Given the description of an element on the screen output the (x, y) to click on. 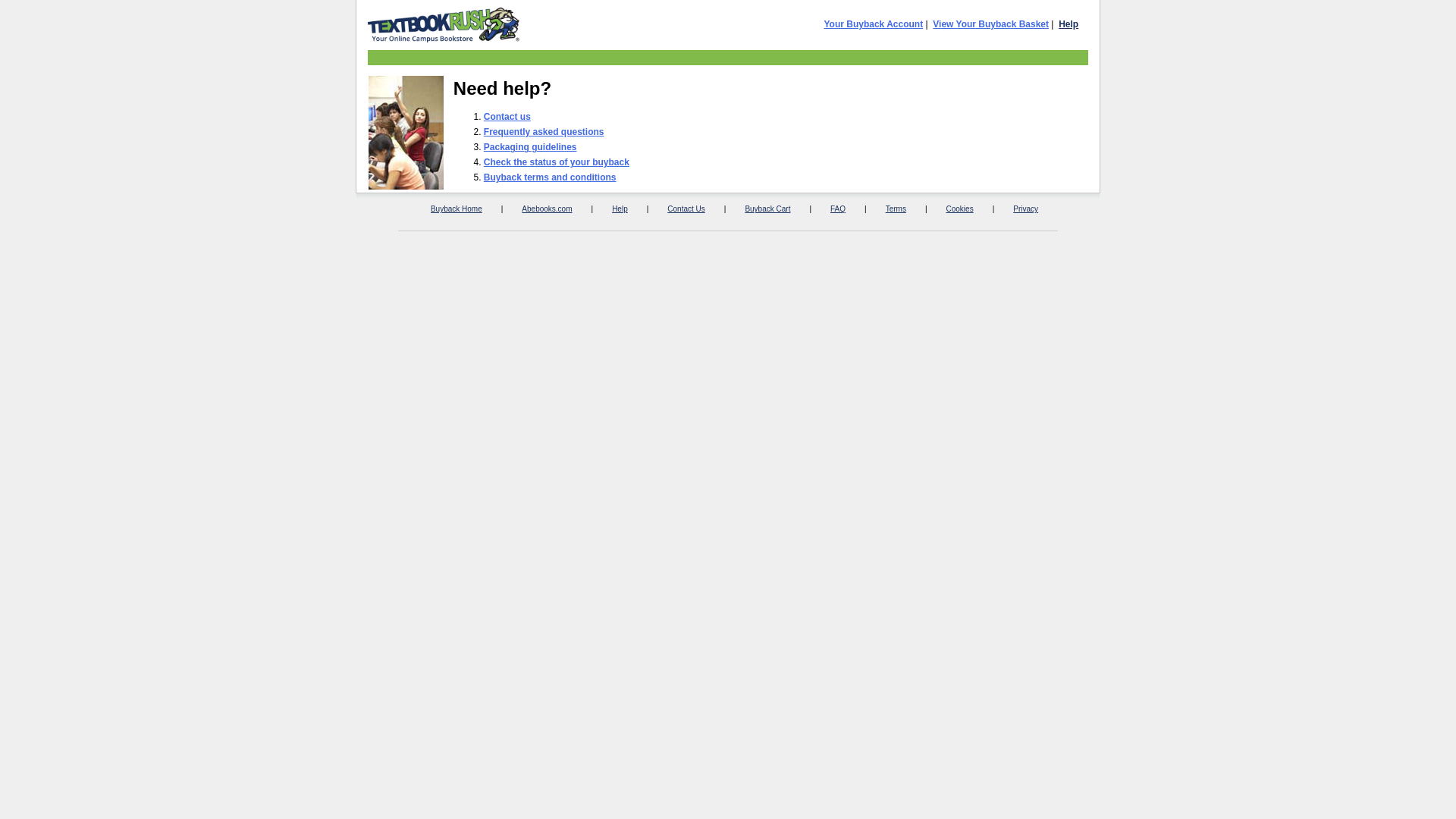
Contact us Element type: text (506, 116)
Buyback terms and conditions Element type: text (549, 177)
Contact Us Element type: text (685, 208)
View Your Buyback Basket Element type: text (990, 23)
Your Buyback Account Element type: text (872, 23)
Buyback Cart Element type: text (767, 208)
Terms Element type: text (895, 208)
Packaging guidelines Element type: text (530, 146)
Privacy Element type: text (1025, 208)
FAQ Element type: text (837, 208)
Help Element type: text (619, 208)
Check the status of your buyback Element type: text (556, 161)
Frequently asked questions Element type: text (543, 131)
Abebooks.com Element type: text (546, 208)
Help Element type: text (1068, 23)
Buyback Home Element type: text (456, 208)
Cookies Element type: text (959, 208)
